Given the description of an element on the screen output the (x, y) to click on. 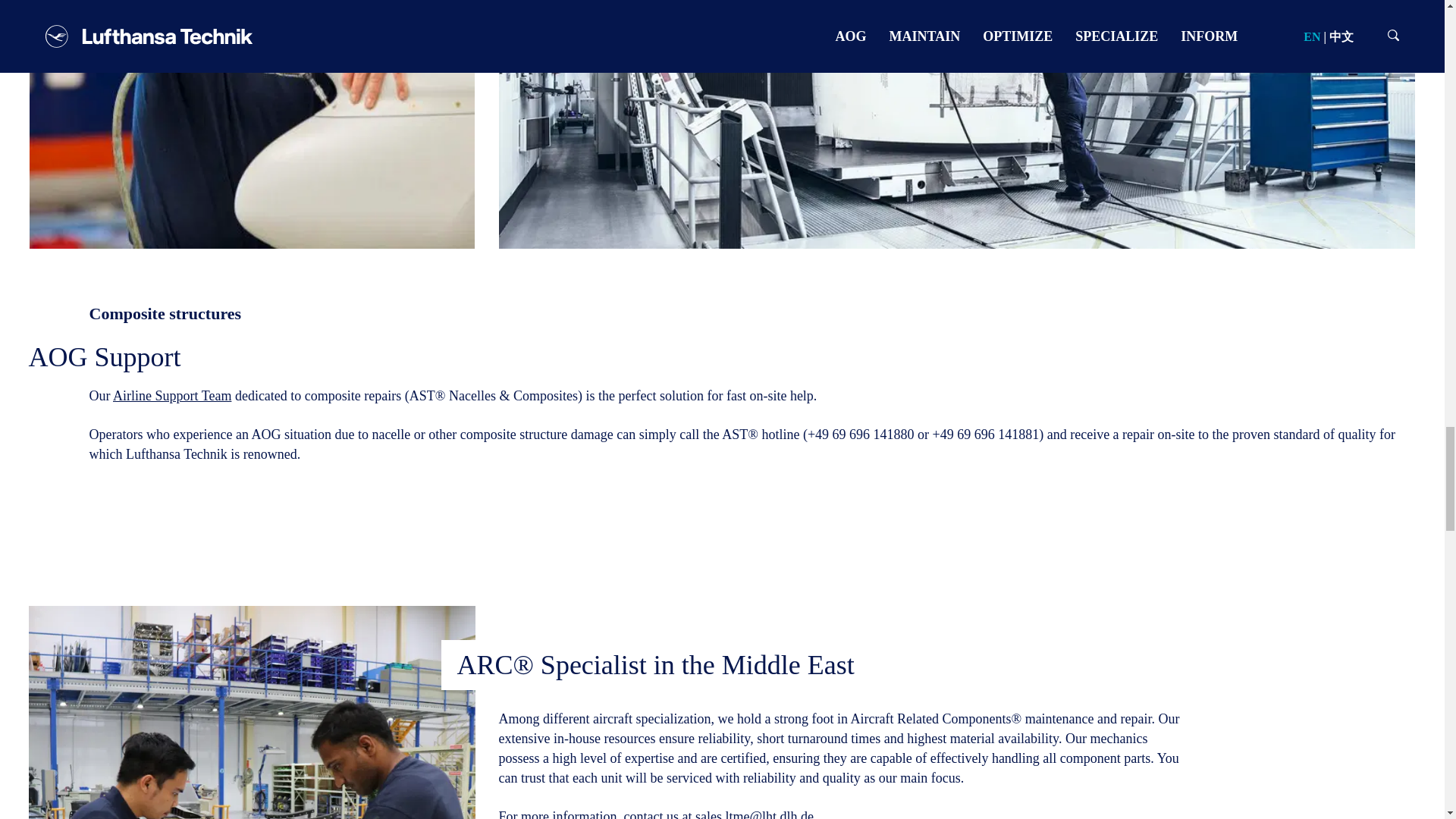
Airline Support Team (172, 395)
